Given the description of an element on the screen output the (x, y) to click on. 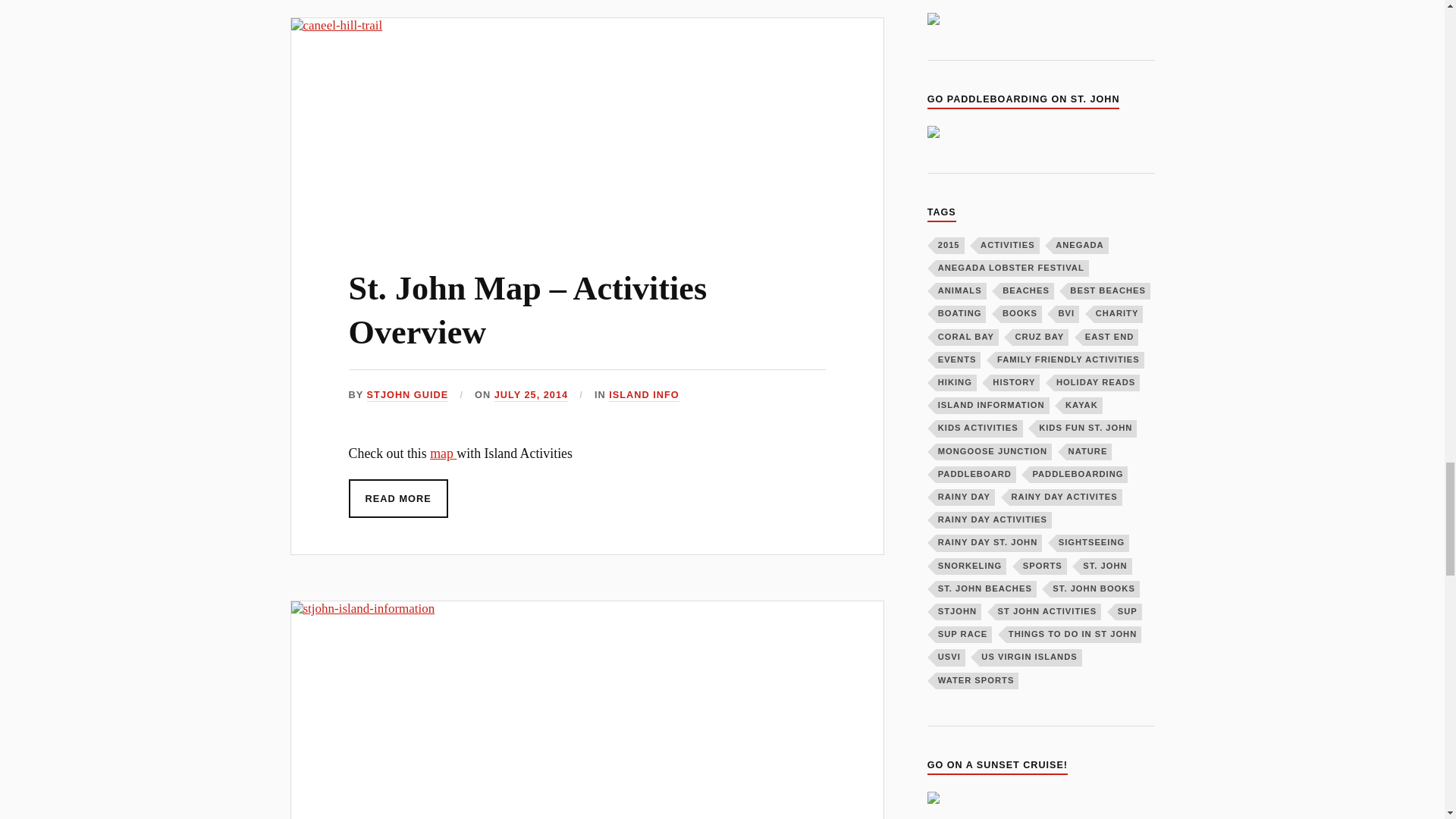
Posts by stjohn guide (407, 395)
St. John Map - Activities (443, 453)
